Given the description of an element on the screen output the (x, y) to click on. 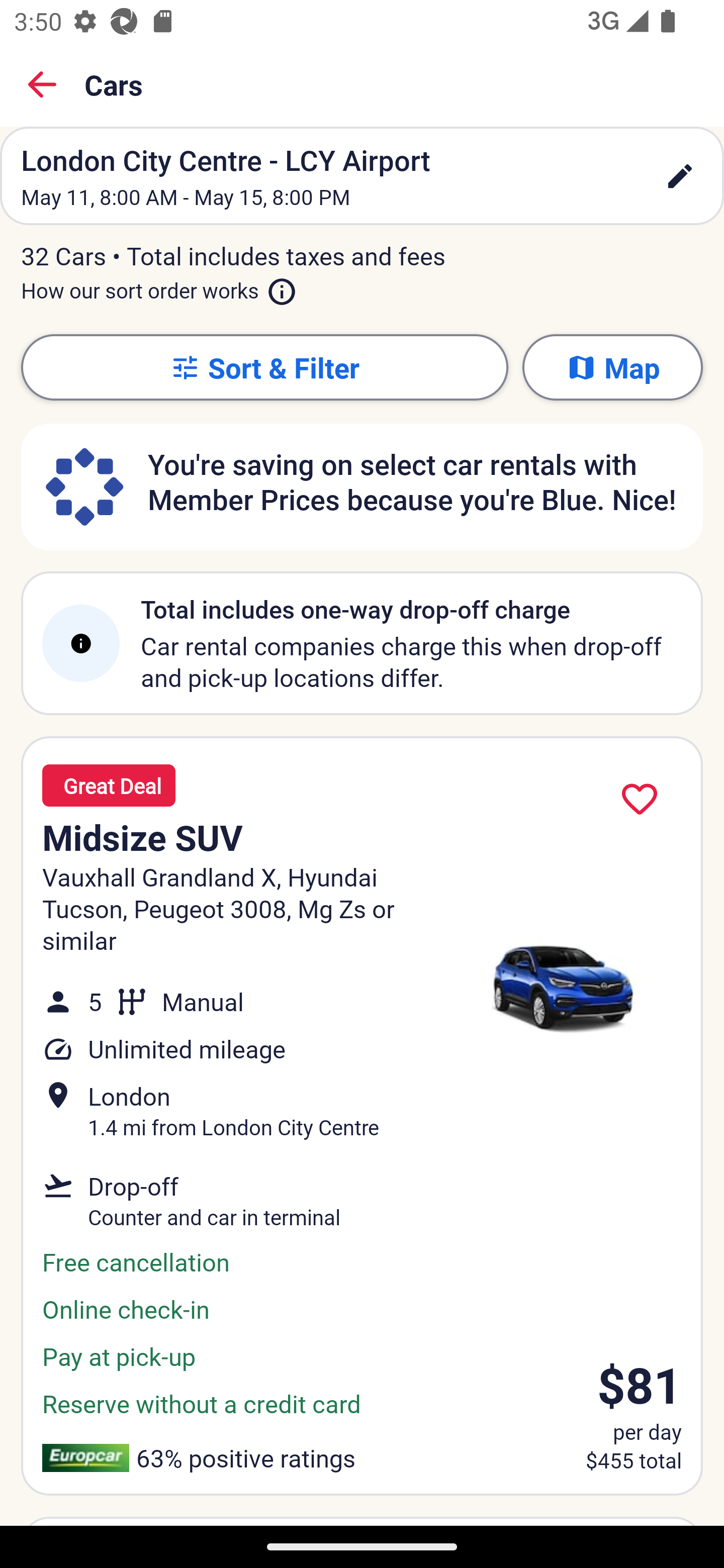
Back (42, 84)
edit (679, 175)
Sort & Filter (264, 366)
Map (612, 366)
